Given the description of an element on the screen output the (x, y) to click on. 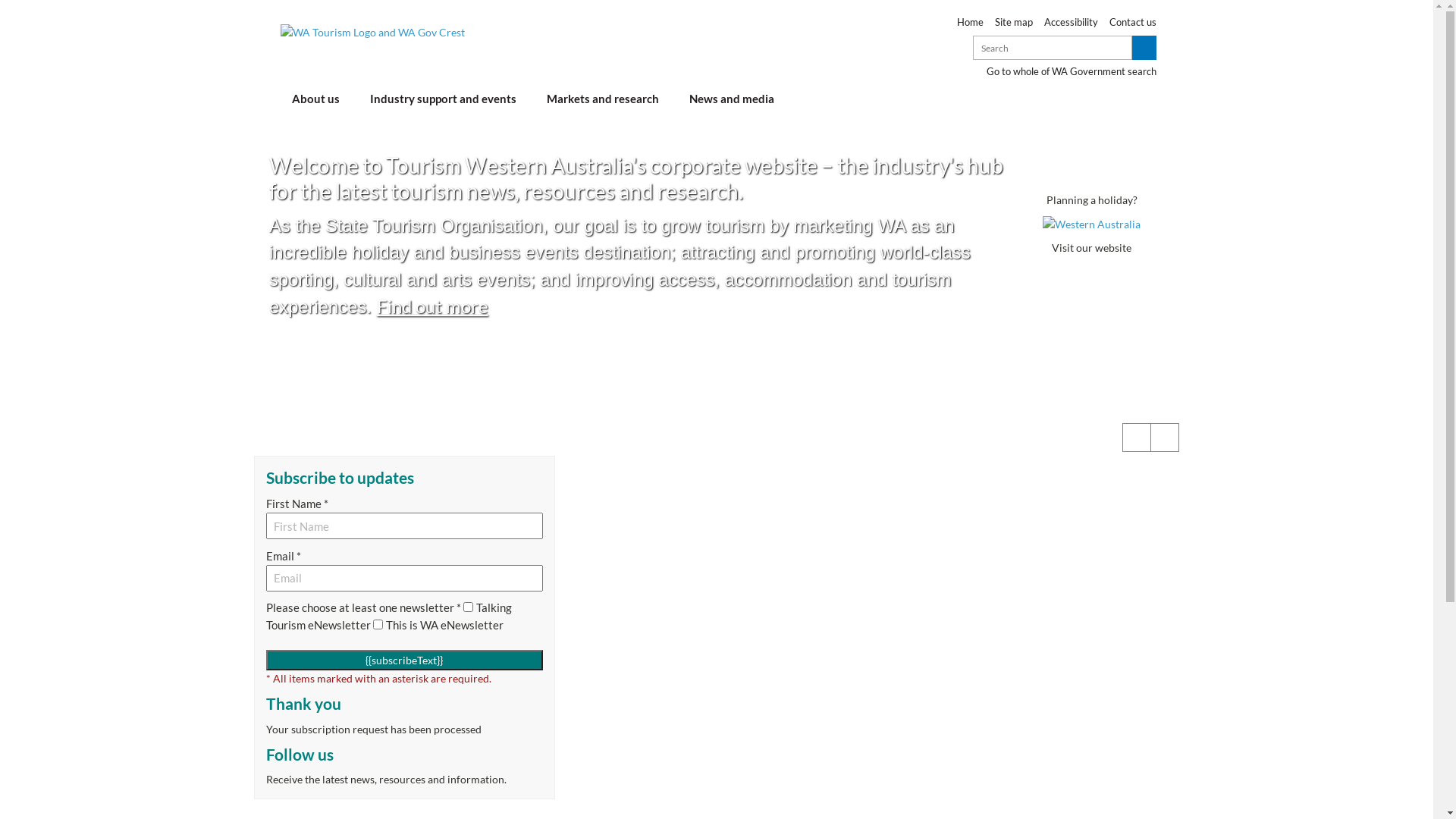
News and media Element type: text (731, 101)
Reset text size Element type: text (1164, 437)
Search Element type: hover (1052, 46)
About us Element type: text (315, 101)
Find out more Element type: text (432, 305)
This is WA eNewsletter Element type: hover (377, 624)
Go to whole of WA Government search Element type: text (1071, 71)
Industry support and events Element type: text (442, 101)
Planning a holiday?
Visit our website Element type: text (1091, 223)
Home Element type: text (964, 21)
Markets and research Element type: text (602, 101)
Contact us Element type: text (1127, 21)
Site map Element type: text (1007, 21)
Talking Tourism eNewsletter Element type: hover (468, 606)
Increase text size Element type: text (1136, 437)
Accessibility Element type: text (1065, 21)
